Given the description of an element on the screen output the (x, y) to click on. 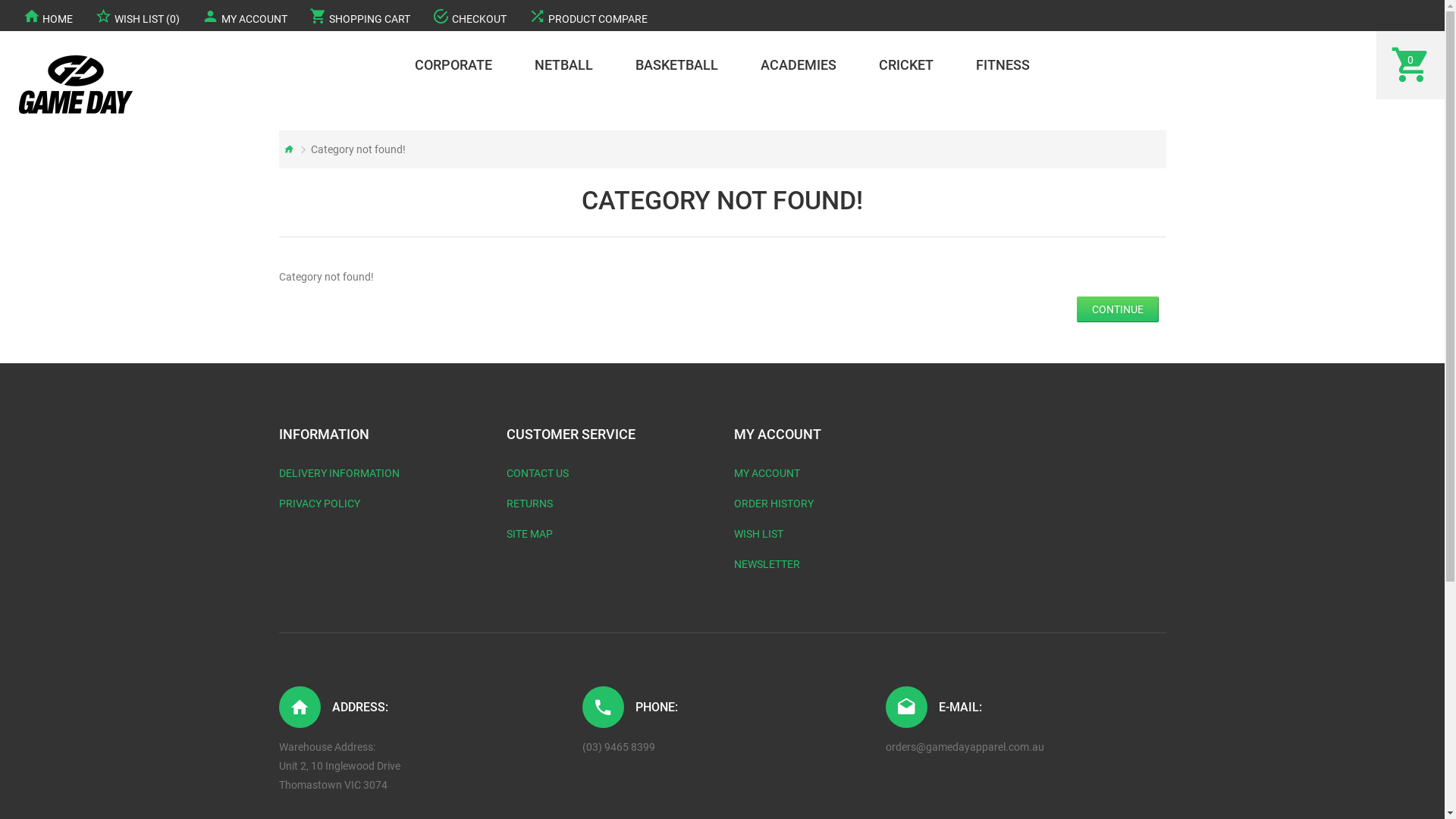
MY ACCOUNT Element type: text (767, 473)
WISH LIST (0) Element type: text (137, 15)
CONTACT US Element type: text (537, 473)
CONTINUE Element type: text (1117, 309)
CHECKOUT Element type: text (468, 15)
Game Day Apparel  Element type: hover (75, 84)
HOME Element type: text (47, 15)
NEWSLETTER Element type: text (767, 564)
(03) 9465 8399 Element type: text (618, 746)
PRODUCT COMPARE Element type: text (587, 15)
RETURNS Element type: text (529, 503)
ORDER HISTORY Element type: text (773, 503)
DELIVERY INFORMATION Element type: text (339, 473)
NETBALL Element type: text (563, 65)
BASKETBALL Element type: text (676, 65)
0 Element type: text (1410, 65)
CRICKET Element type: text (905, 65)
CORPORATE Element type: text (453, 65)
SHOPPING CART Element type: text (359, 15)
FITNESS Element type: text (1002, 65)
WISH LIST Element type: text (758, 533)
ACADEMIES Element type: text (798, 65)
orders@gamedayapparel.com.au Element type: text (964, 746)
SITE MAP Element type: text (529, 533)
PRIVACY POLICY Element type: text (319, 503)
MY ACCOUNT Element type: text (244, 15)
